Given the description of an element on the screen output the (x, y) to click on. 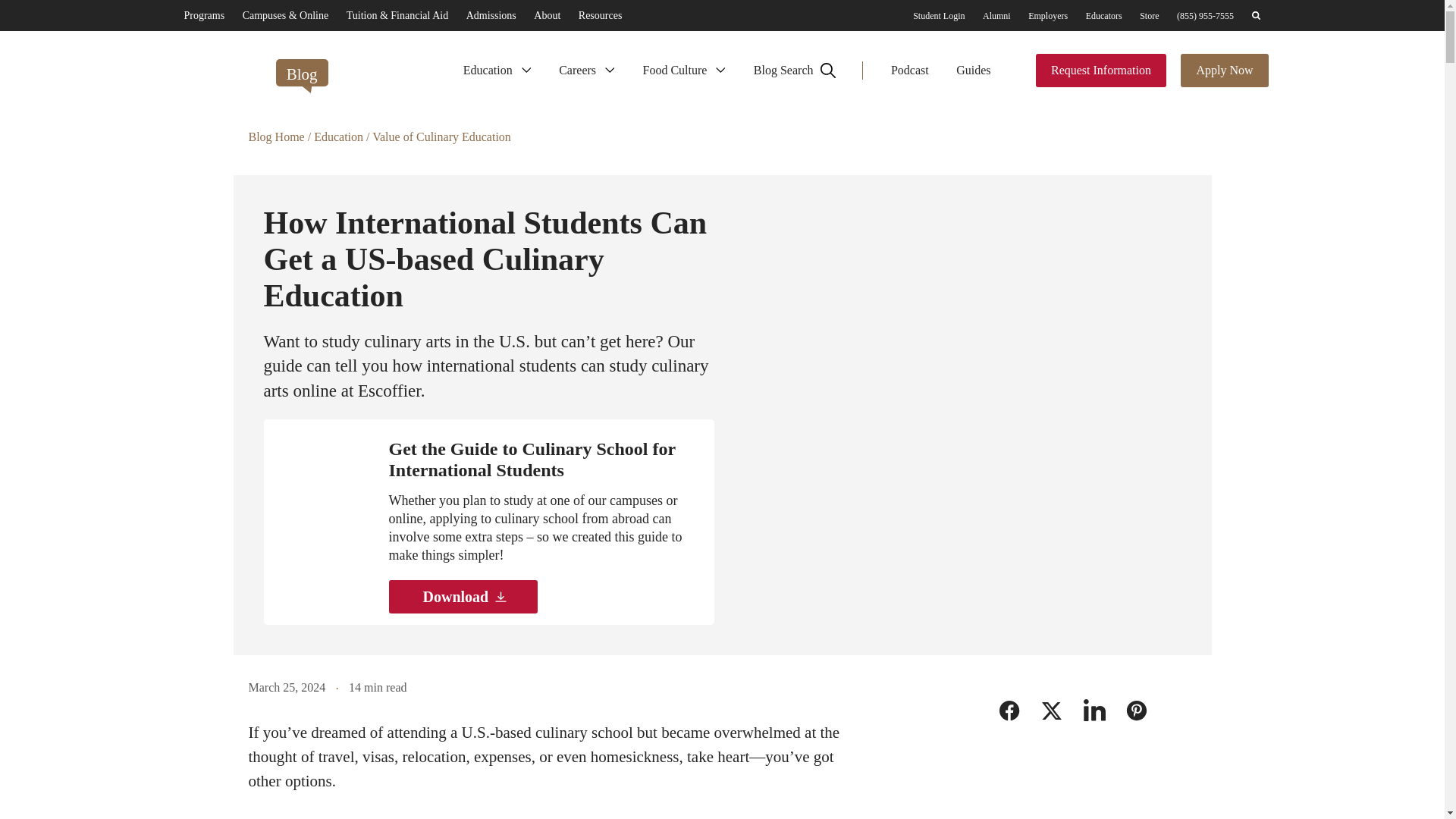
Programs (203, 15)
